Given the description of an element on the screen output the (x, y) to click on. 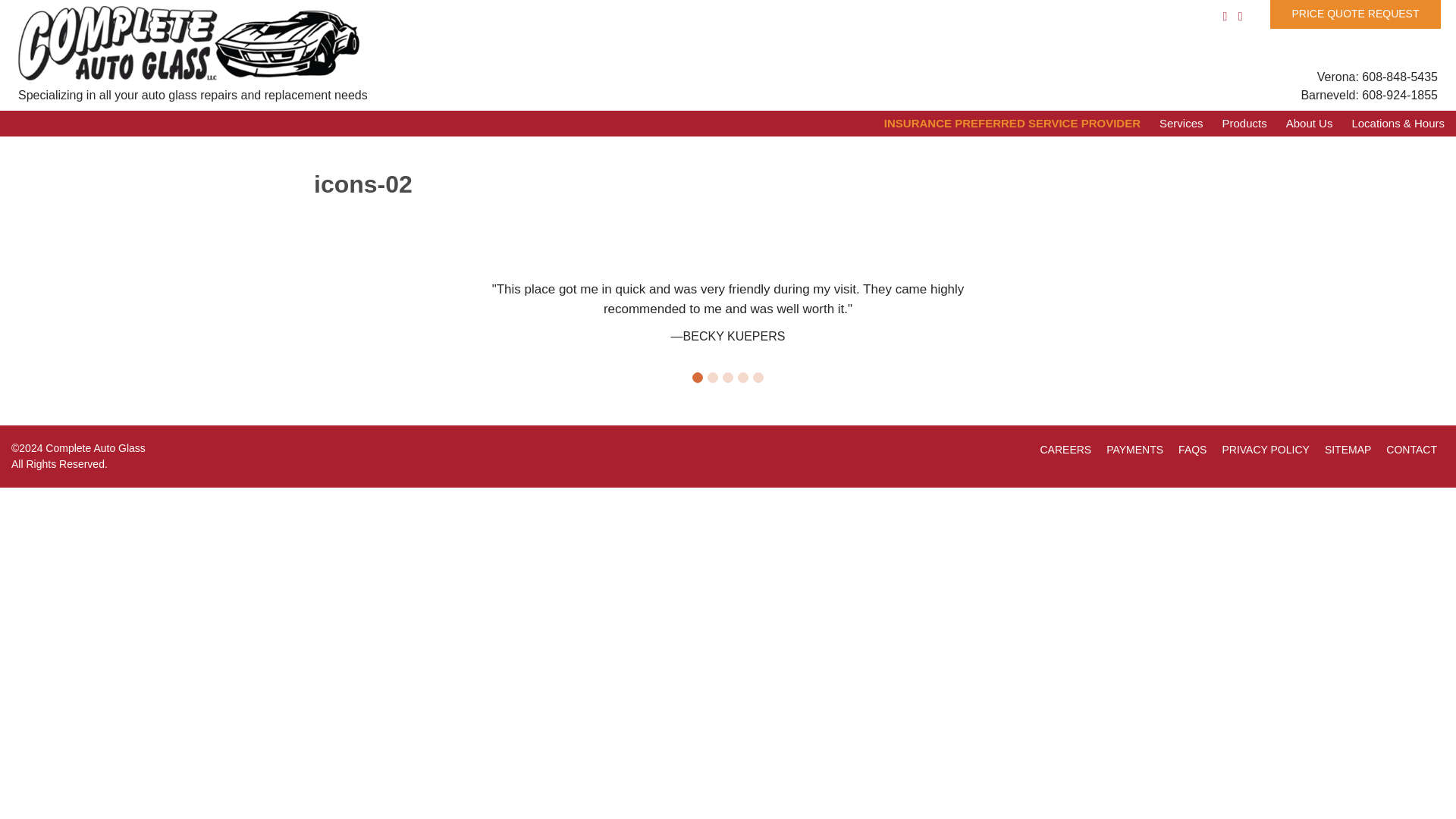
Services (1172, 123)
Insurance Preferred Service Provider (1002, 123)
About Us (1299, 123)
Privacy Policy (1265, 449)
CAREERS (1065, 449)
FAQS (1192, 449)
PRIVACY POLICY (1265, 449)
Products (1235, 123)
Services (1172, 123)
Sitemap (1347, 449)
PAYMENTS (1134, 449)
SITEMAP (1347, 449)
INSURANCE PREFERRED SERVICE PROVIDER (1002, 123)
PRICE QUOTE REQUEST (1355, 14)
CONTACT (1411, 449)
